Given the description of an element on the screen output the (x, y) to click on. 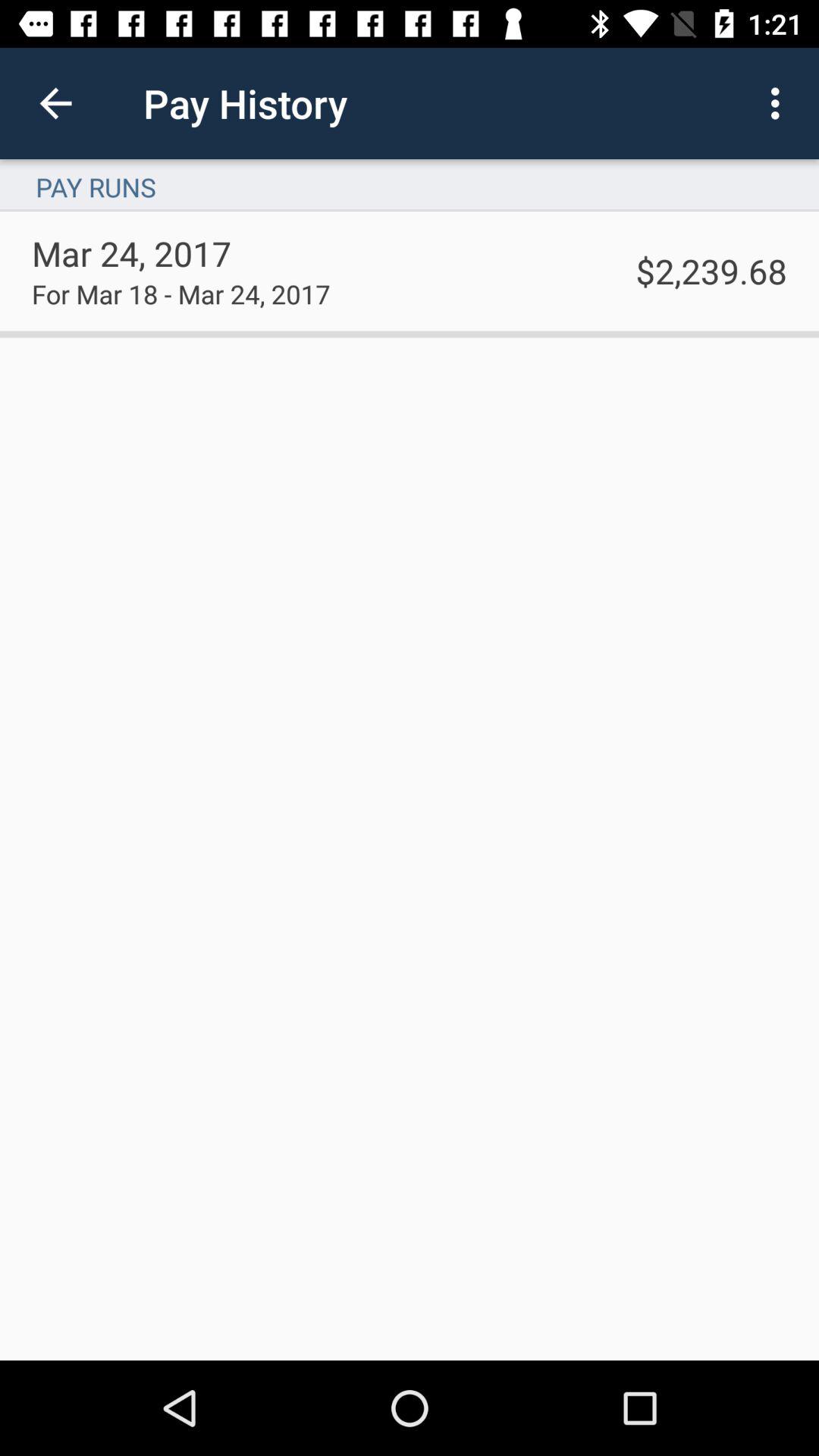
turn off the item next to the mar 24, 2017 item (711, 270)
